Given the description of an element on the screen output the (x, y) to click on. 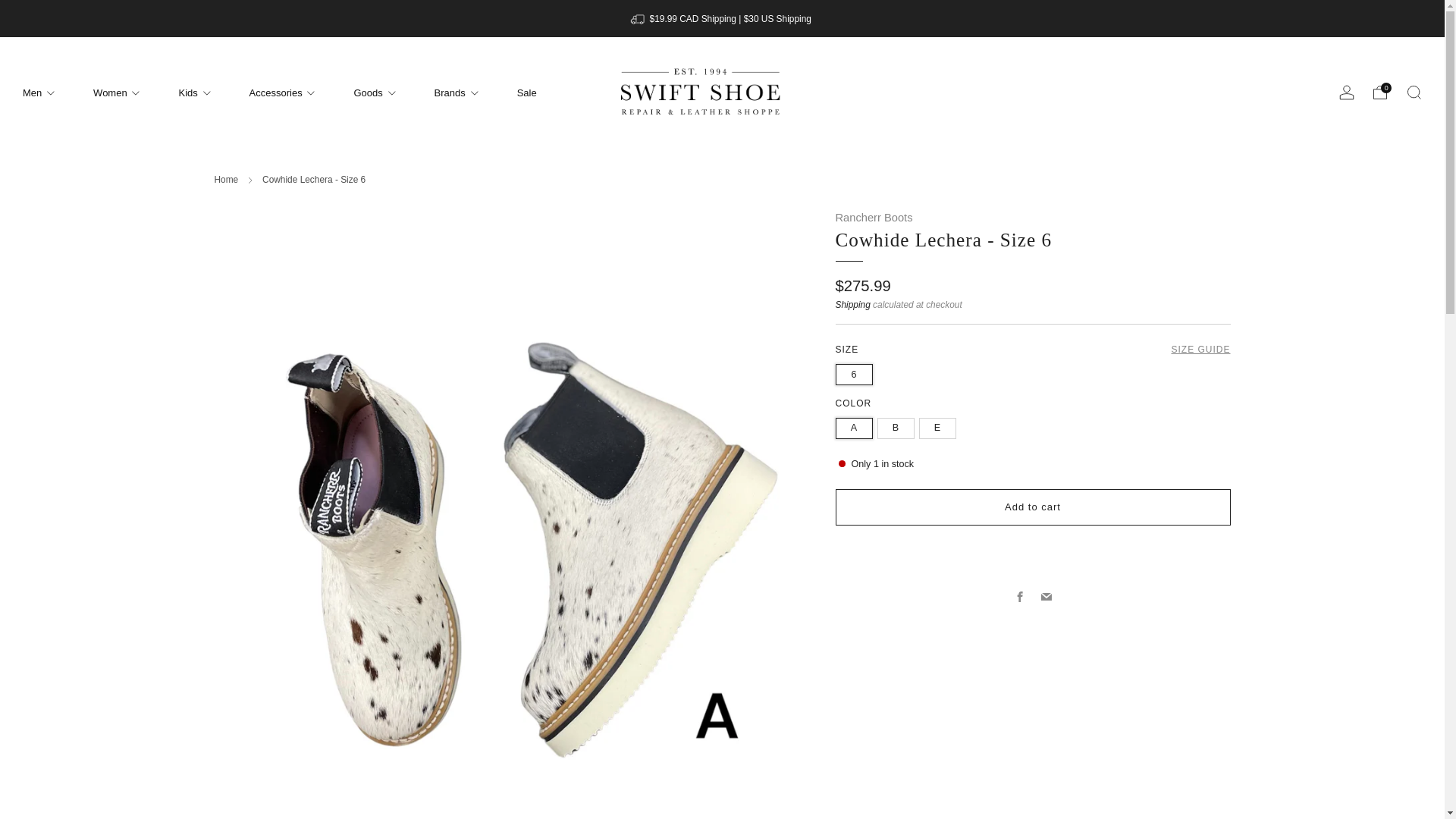
B (897, 424)
Women (116, 92)
6 (856, 370)
Rancherr Boots (873, 216)
Home (226, 179)
E (939, 424)
Men (39, 92)
A (856, 424)
